Given the description of an element on the screen output the (x, y) to click on. 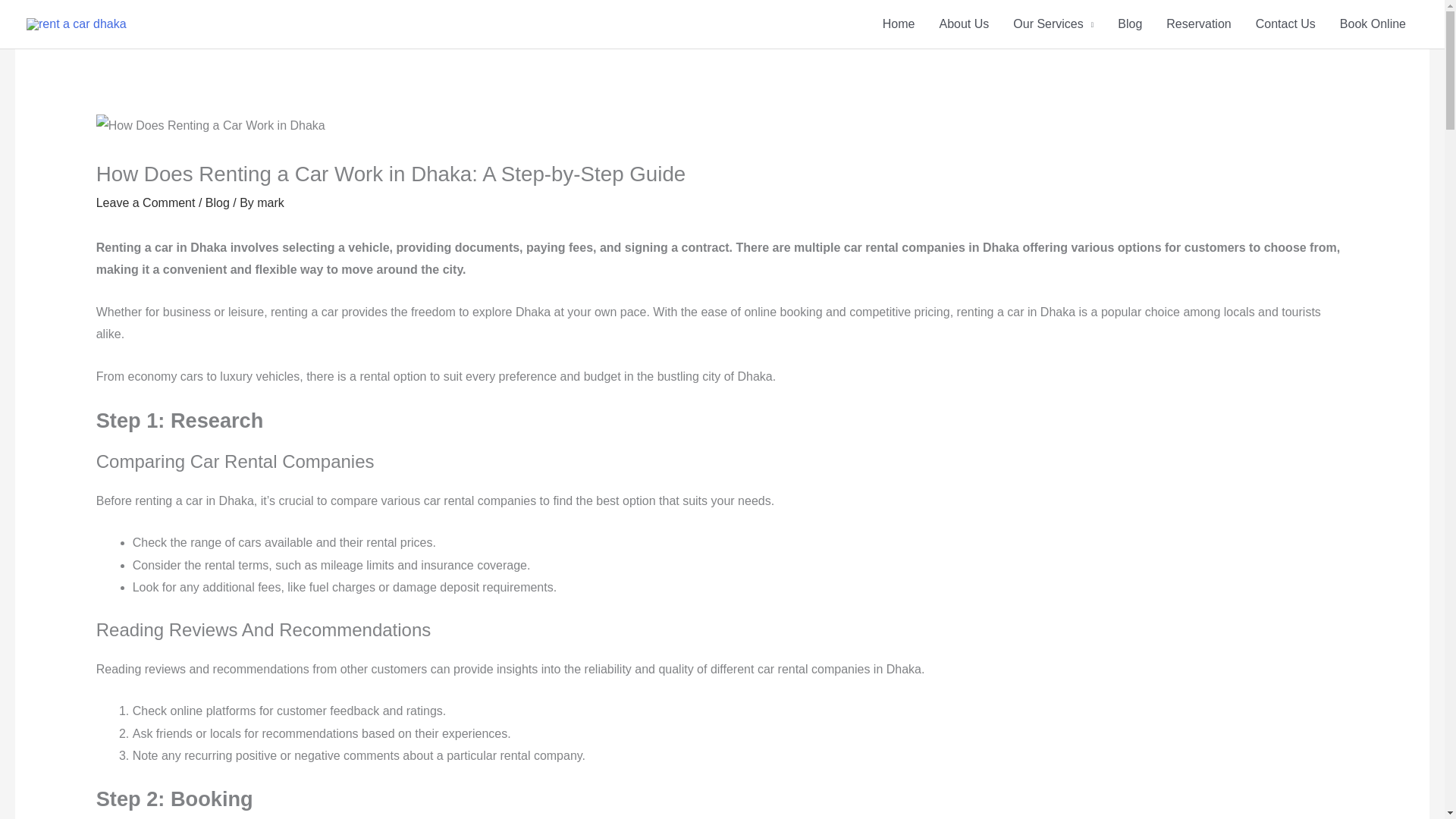
Book Online (1372, 24)
About Us (963, 24)
View all posts by mark (270, 202)
mark (270, 202)
Blog (1129, 24)
Home (898, 24)
Contact Us (1285, 24)
Our Services (1053, 24)
Blog (217, 202)
Reservation (1198, 24)
Leave a Comment (145, 202)
